Given the description of an element on the screen output the (x, y) to click on. 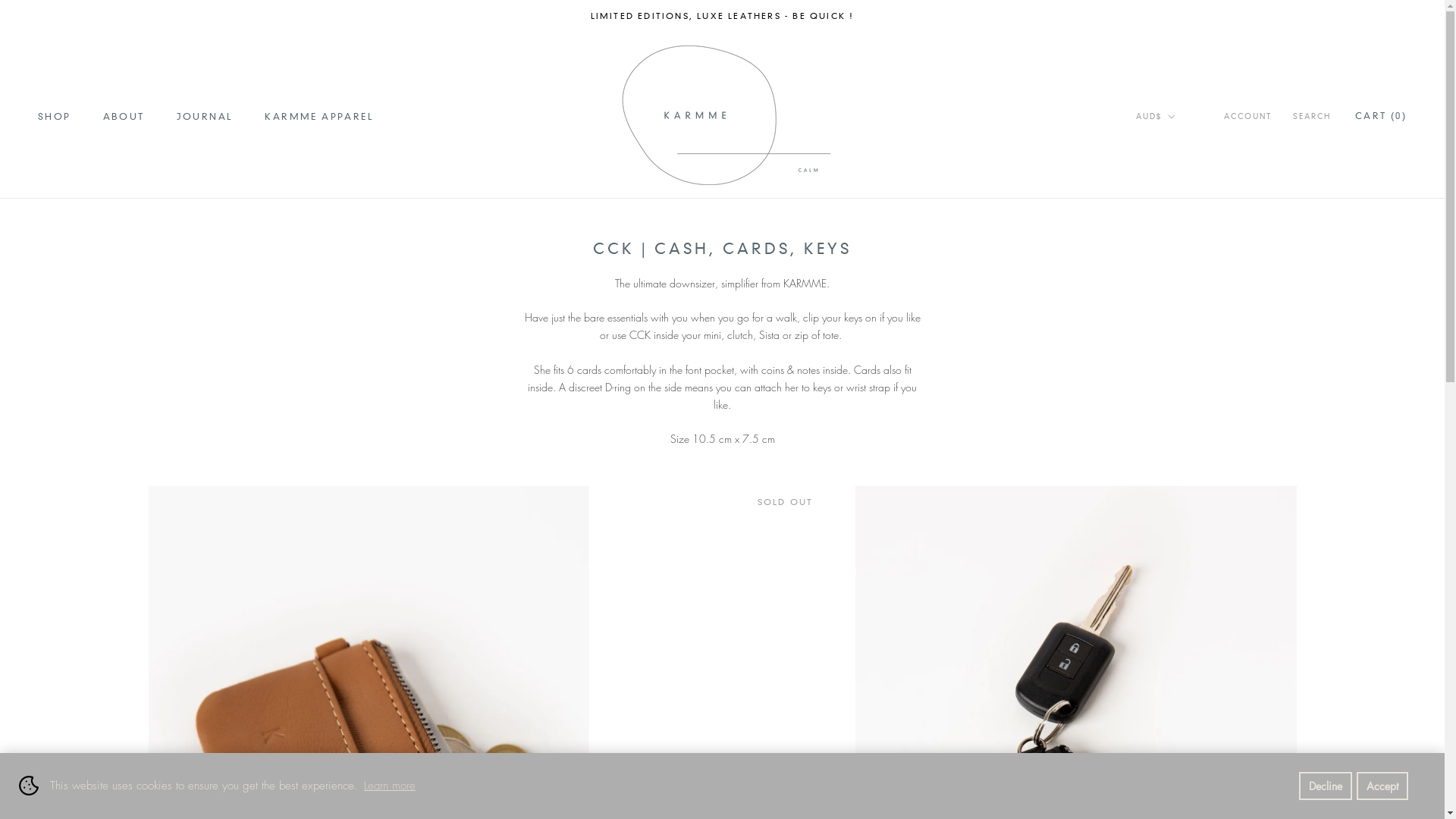
SGD Element type: text (1174, 228)
KARMME APPAREL
KARMME APPAREL Element type: text (318, 116)
Decline Element type: text (1325, 785)
SEARCH Element type: text (1311, 116)
LIMITED EDITIONS, LUXE LEATHERS - BE QUICK ! Element type: text (722, 15)
AUD$ Element type: text (1155, 117)
Shopify online store chat Element type: hover (34, 780)
RUB Element type: text (1174, 208)
Accept Element type: text (1382, 785)
SHOP Element type: text (54, 116)
ABOUT Element type: text (123, 116)
GBP Element type: text (1174, 168)
Learn more Element type: text (389, 786)
JOURNAL
JOURNAL Element type: text (204, 116)
USD Element type: text (1174, 248)
ACCOUNT Element type: text (1247, 116)
CART (0) Element type: text (1380, 115)
NZD Element type: text (1174, 188)
AUD Element type: text (1174, 148)
